Given the description of an element on the screen output the (x, y) to click on. 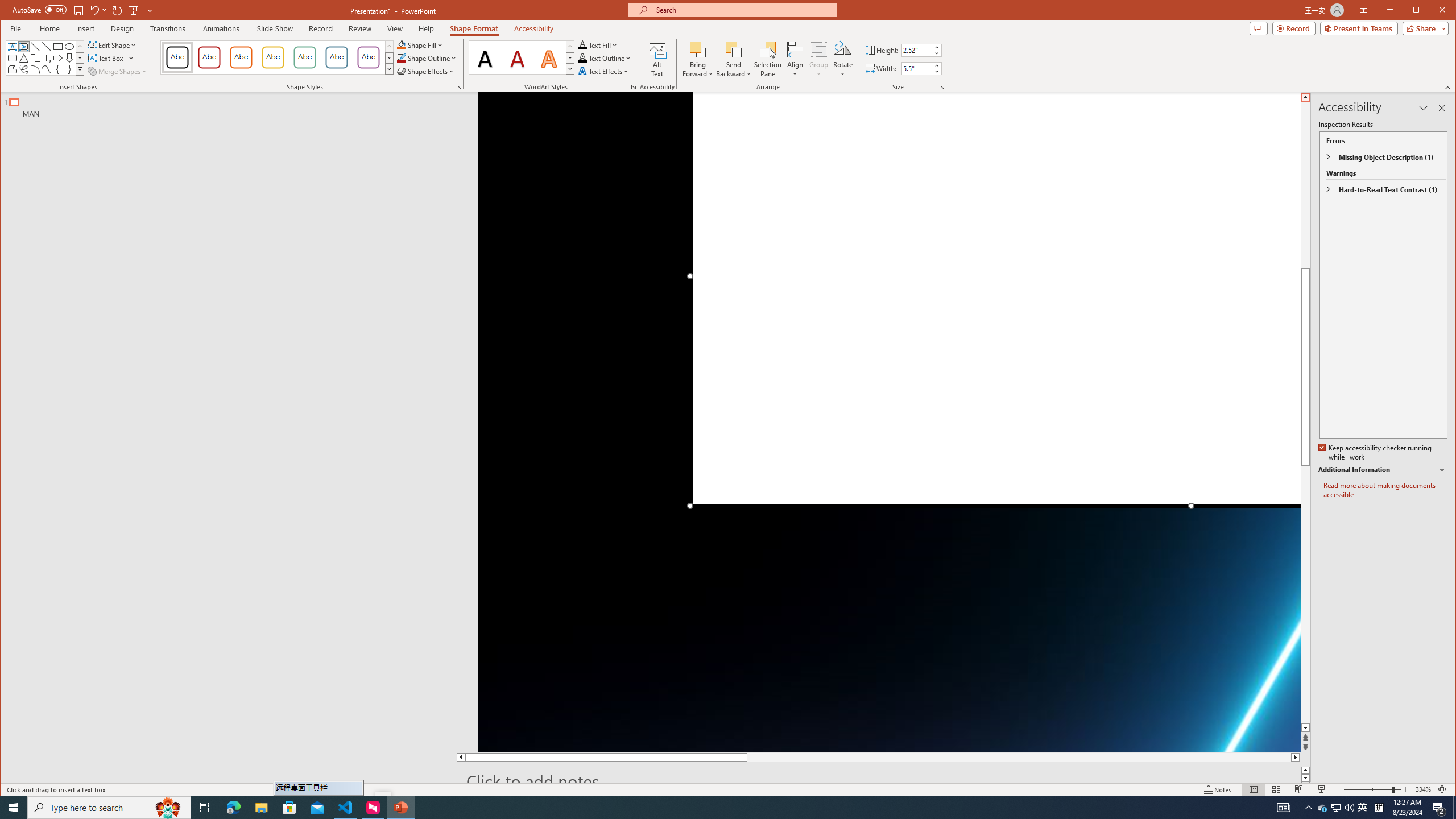
AutomationID: TextStylesGallery (521, 57)
Colored Outline - Green, Accent 4 (304, 57)
Text Fill (598, 44)
